Given the description of an element on the screen output the (x, y) to click on. 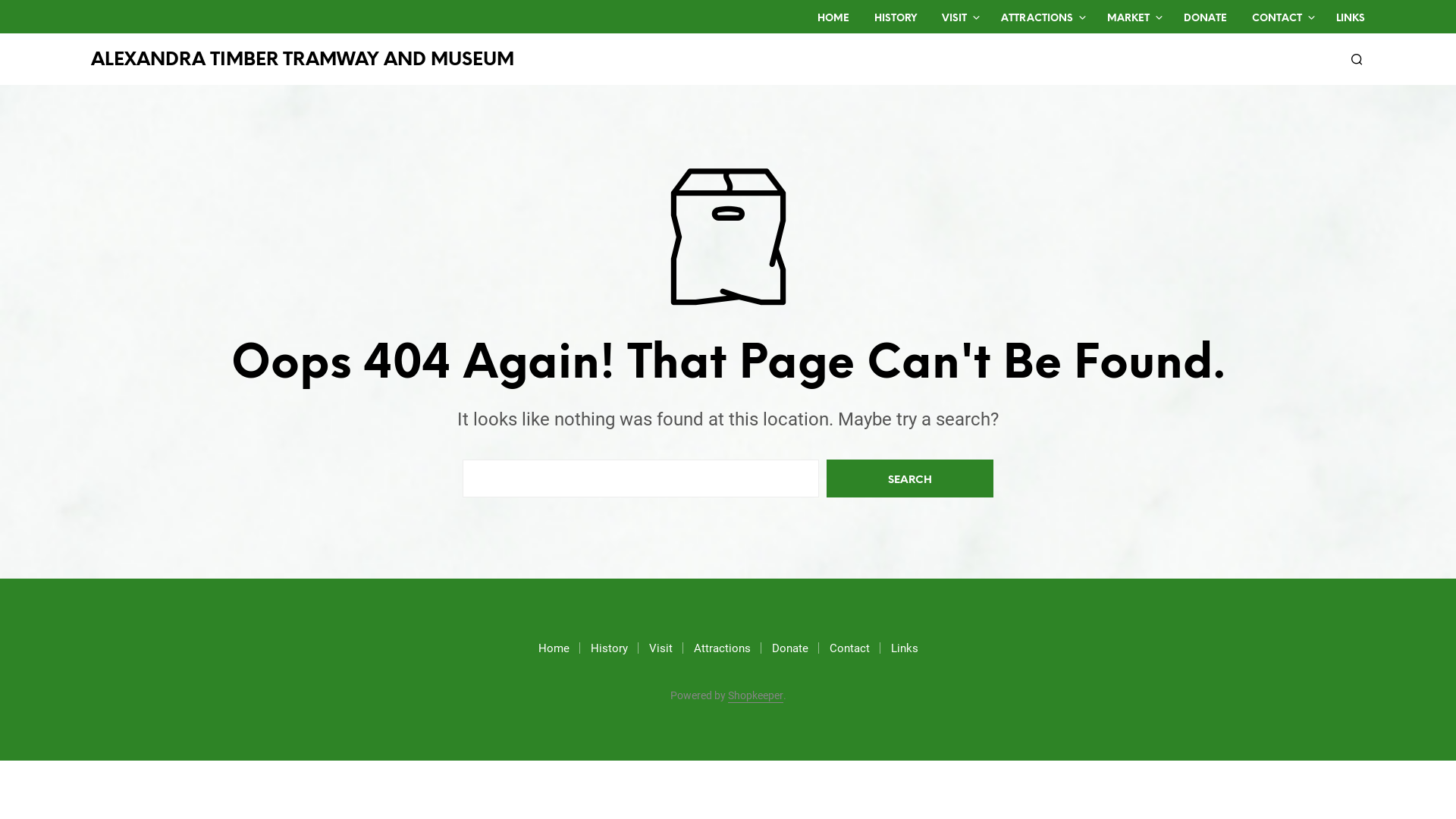
HOME Element type: text (833, 18)
HISTORY Element type: text (895, 18)
Contact Element type: text (849, 648)
DONATE Element type: text (1205, 18)
CONTACT Element type: text (1276, 18)
Search Element type: text (909, 478)
MARKET Element type: text (1128, 18)
History Element type: text (608, 648)
Home Element type: text (553, 648)
ALEXANDRA TIMBER TRAMWAY AND MUSEUM Element type: text (302, 60)
Shopkeeper Element type: text (755, 696)
Attractions Element type: text (721, 648)
Links Element type: text (903, 648)
ATTRACTIONS Element type: text (1036, 18)
VISIT Element type: text (954, 18)
Visit Element type: text (660, 648)
LINKS Element type: text (1350, 18)
Donate Element type: text (789, 648)
